Given the description of an element on the screen output the (x, y) to click on. 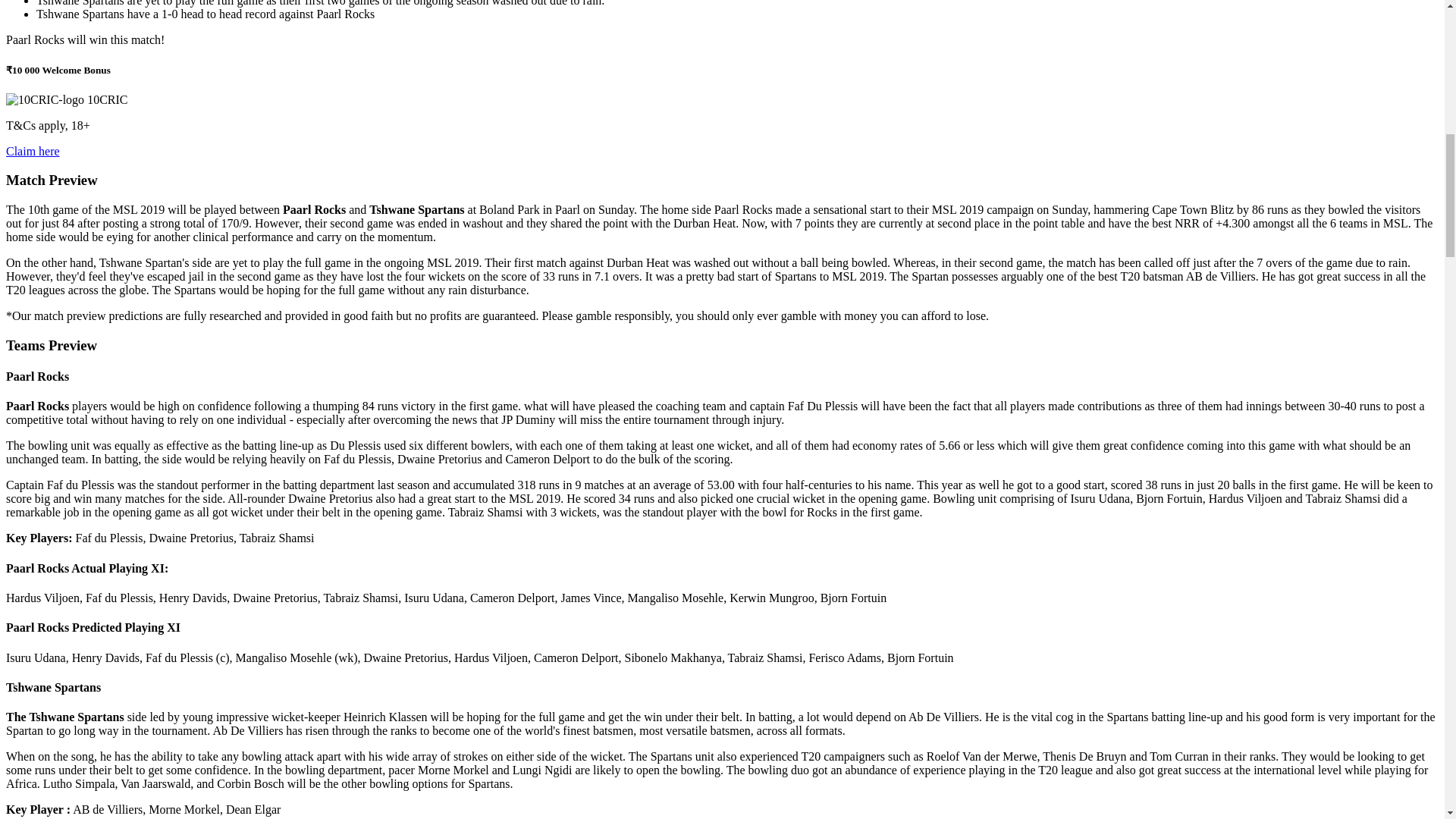
Claim here (32, 151)
Claim here (32, 151)
